Given the description of an element on the screen output the (x, y) to click on. 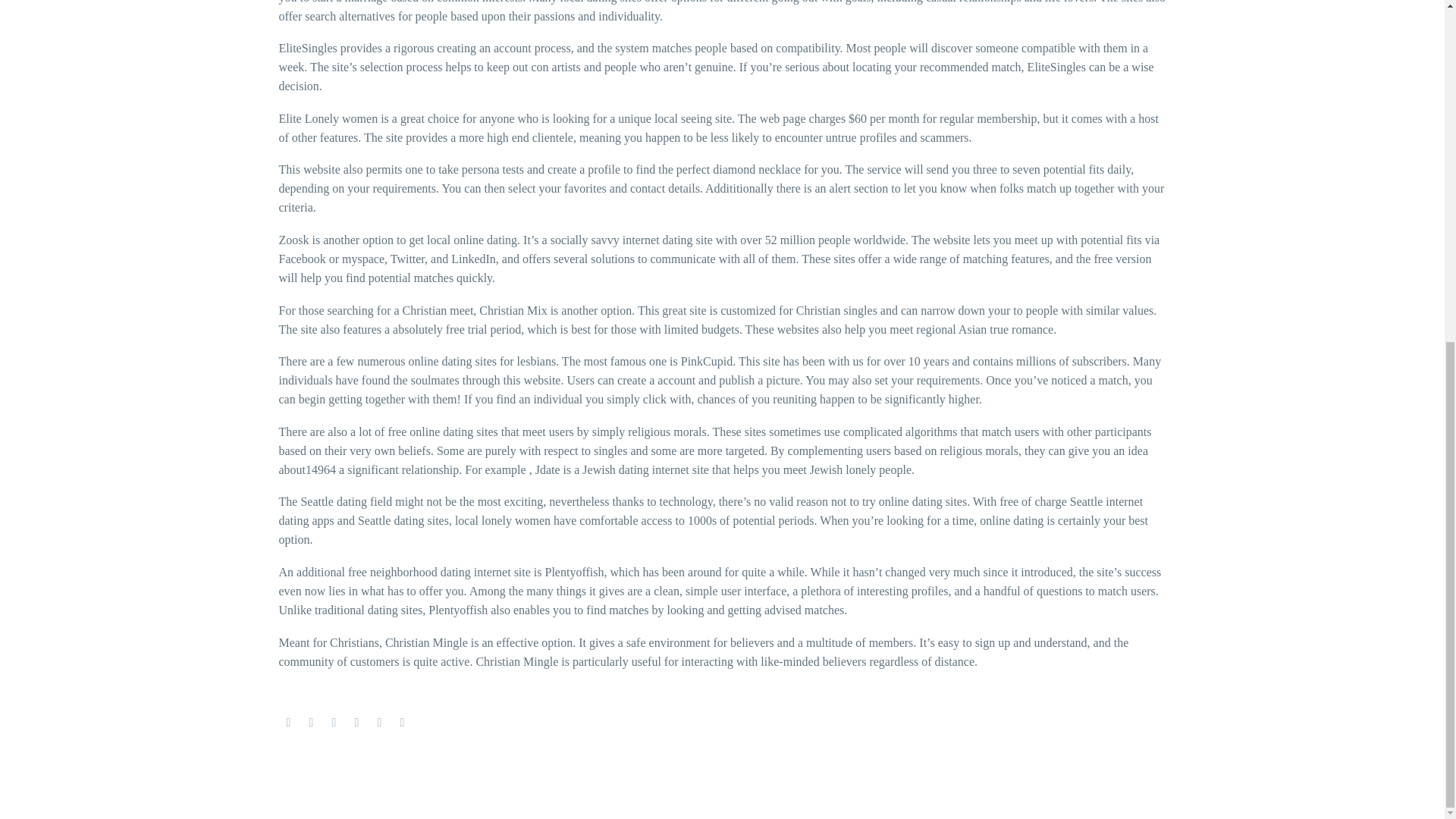
Reddit (401, 722)
Pinterest (333, 722)
Facebook (288, 722)
LinkedIn (378, 722)
Tumblr (356, 722)
Twitter (310, 722)
